Given the description of an element on the screen output the (x, y) to click on. 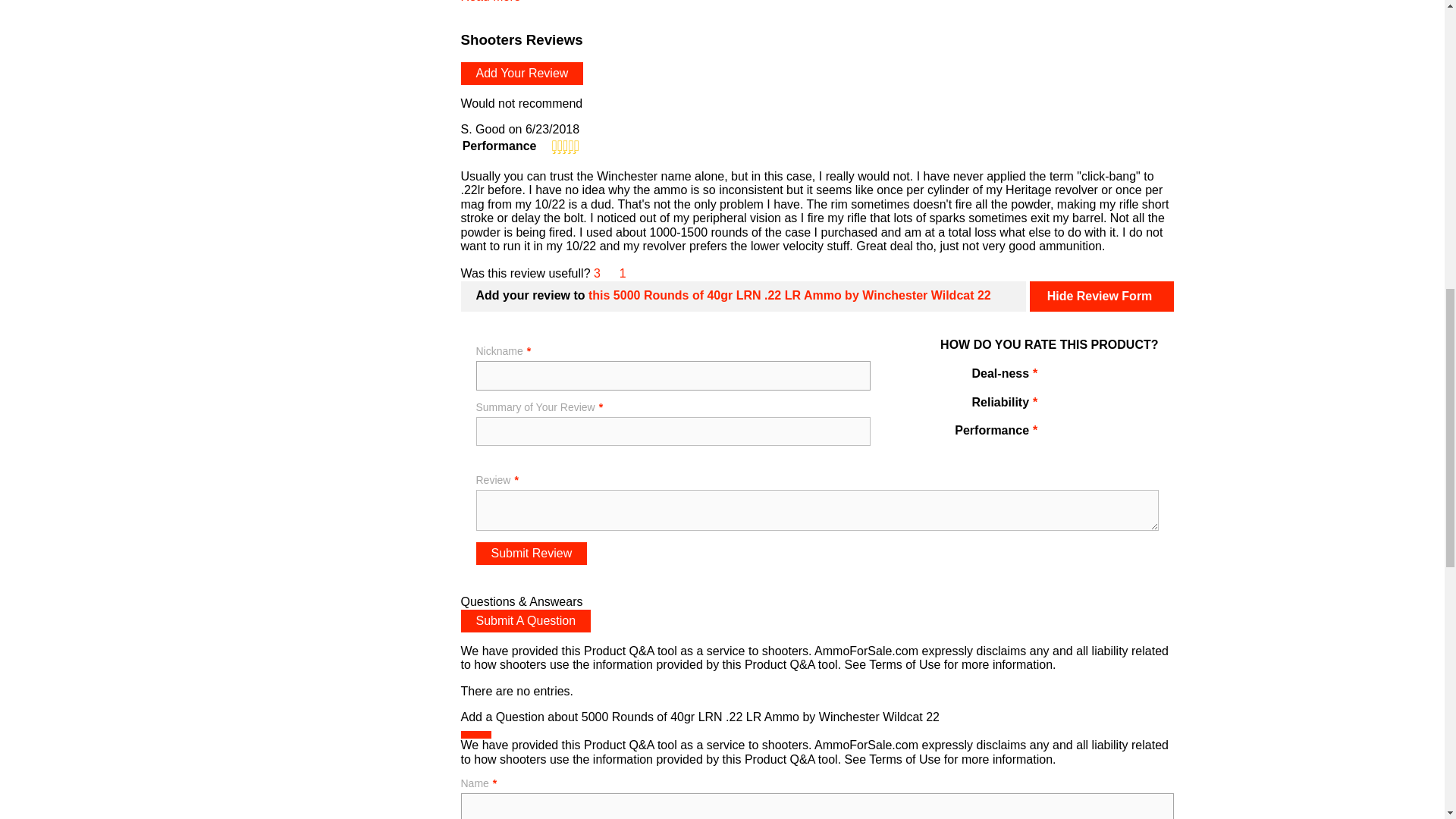
1 (1059, 405)
3 (1101, 405)
5 (1144, 377)
3 (1101, 377)
4 (1123, 405)
2 (1080, 377)
Add Your Review (522, 73)
4 (1123, 377)
1 (1059, 377)
2 (1080, 405)
